Given the description of an element on the screen output the (x, y) to click on. 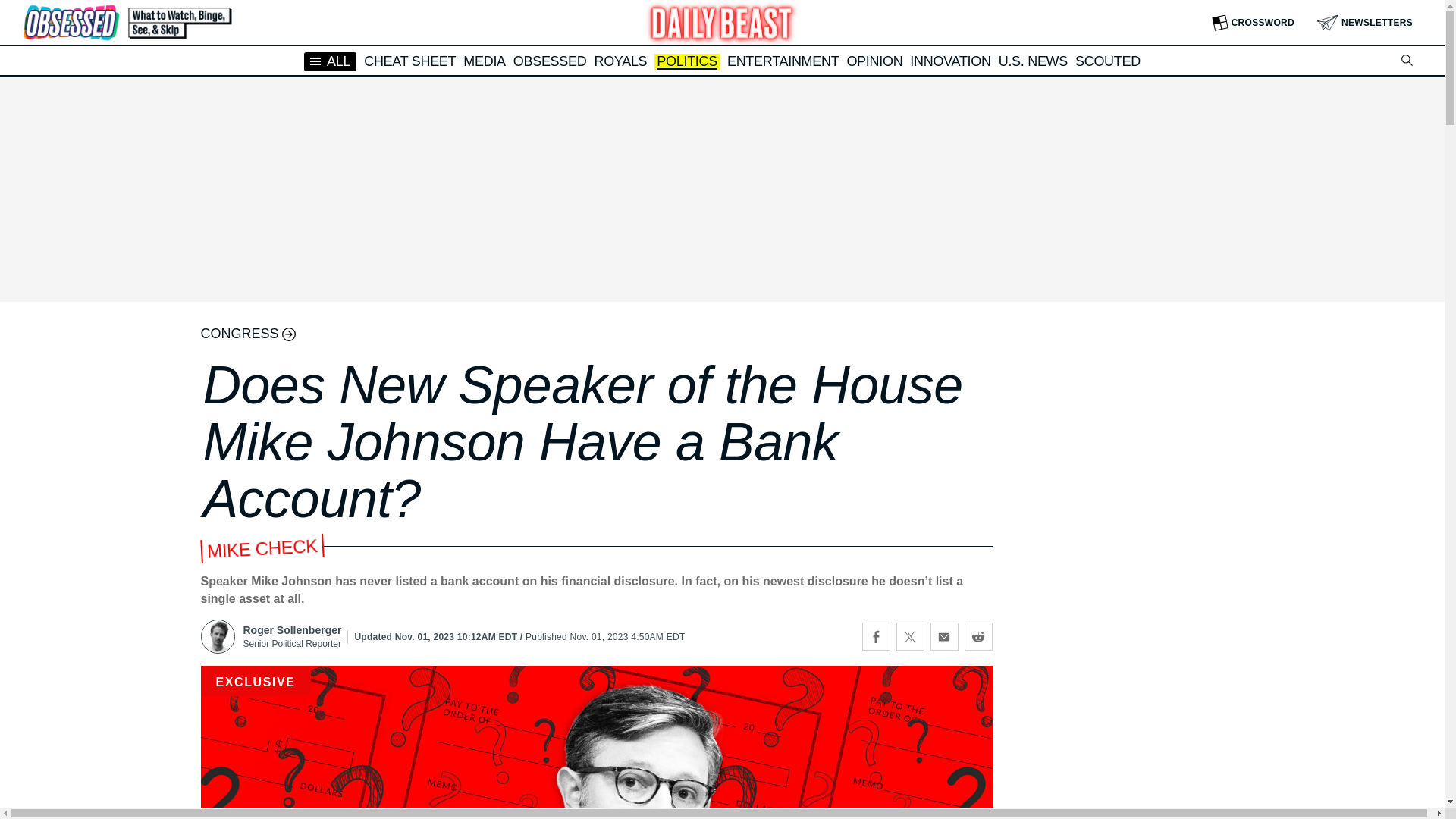
SCOUTED (1107, 60)
CHEAT SHEET (409, 60)
OPINION (873, 60)
ROYALS (620, 60)
MEDIA (484, 60)
U.S. NEWS (1032, 60)
OBSESSED (549, 60)
ALL (330, 60)
NEWSLETTERS (1364, 22)
ENTERTAINMENT (782, 60)
